Given the description of an element on the screen output the (x, y) to click on. 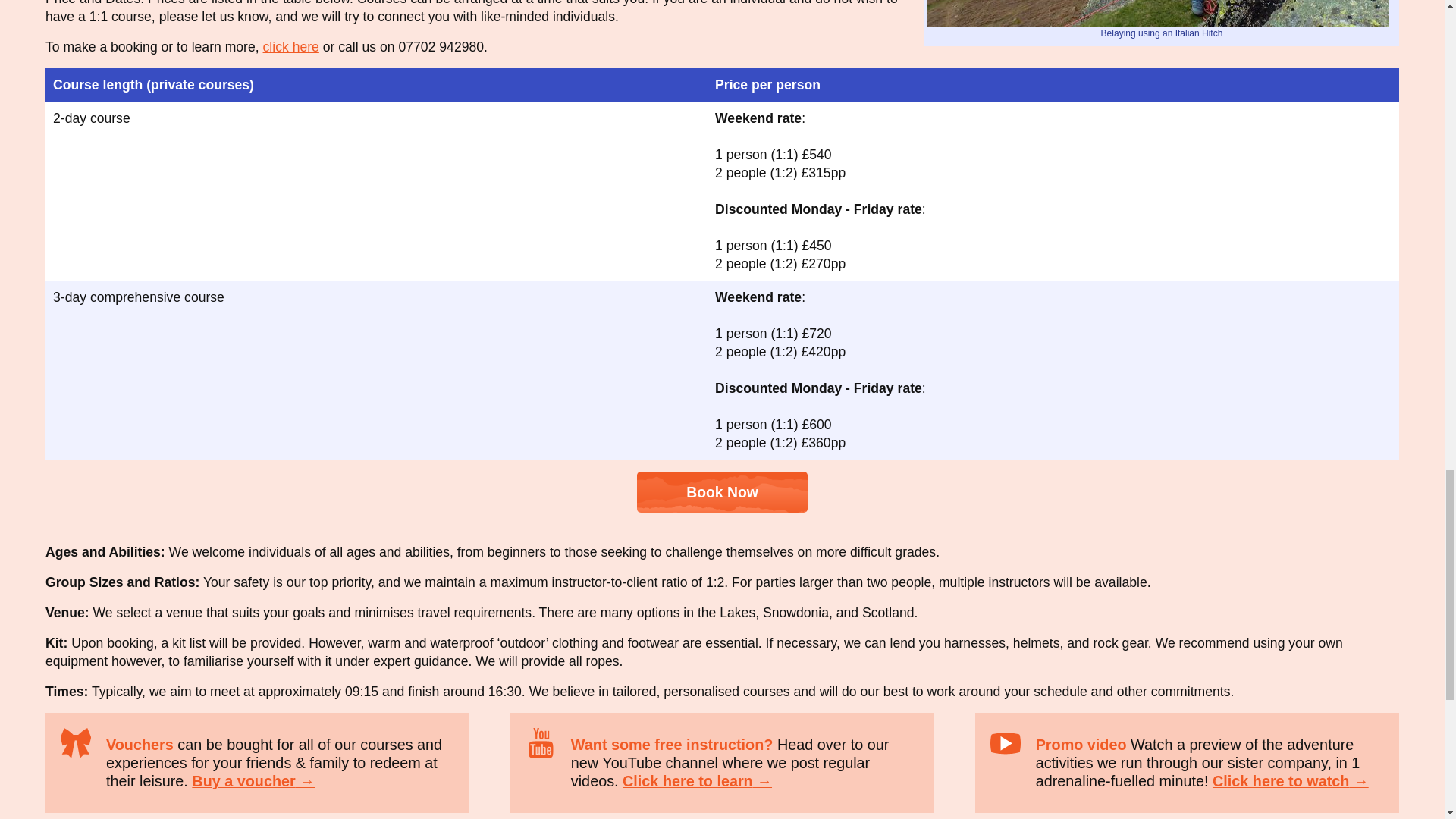
20170429 P4290008 608x448 Technical scrambling course (1158, 13)
